Given the description of an element on the screen output the (x, y) to click on. 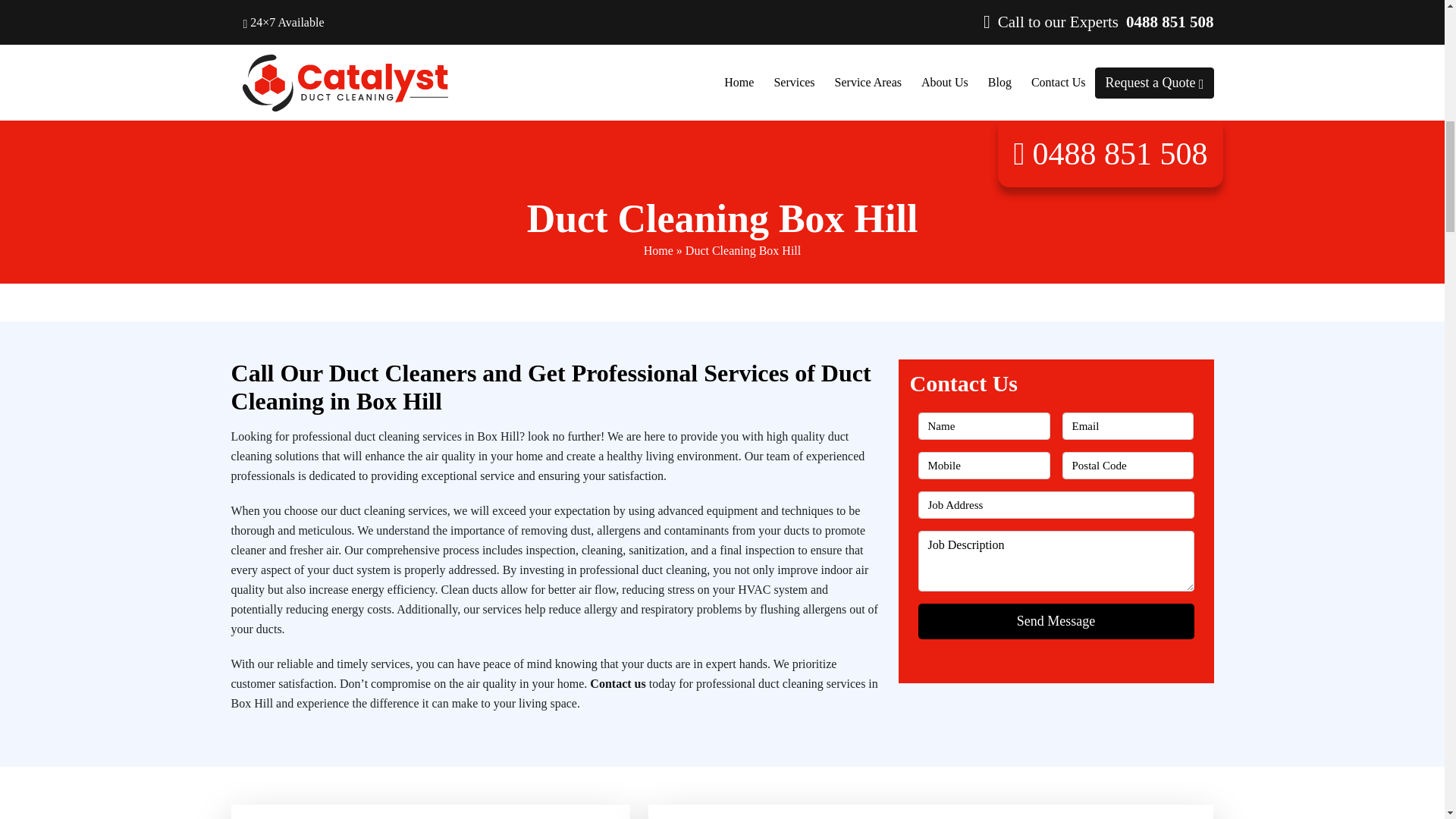
0488 851 508 (1110, 153)
Send Message (1055, 621)
Home (738, 82)
Contact us (617, 683)
Send Message (1055, 621)
Contact Us (1058, 82)
About Us (944, 82)
Home (657, 250)
Services (794, 82)
Blog (999, 82)
Service Areas (868, 82)
Request a Quote (1153, 81)
Call to our Experts0488 851 508 (1102, 22)
